Given the description of an element on the screen output the (x, y) to click on. 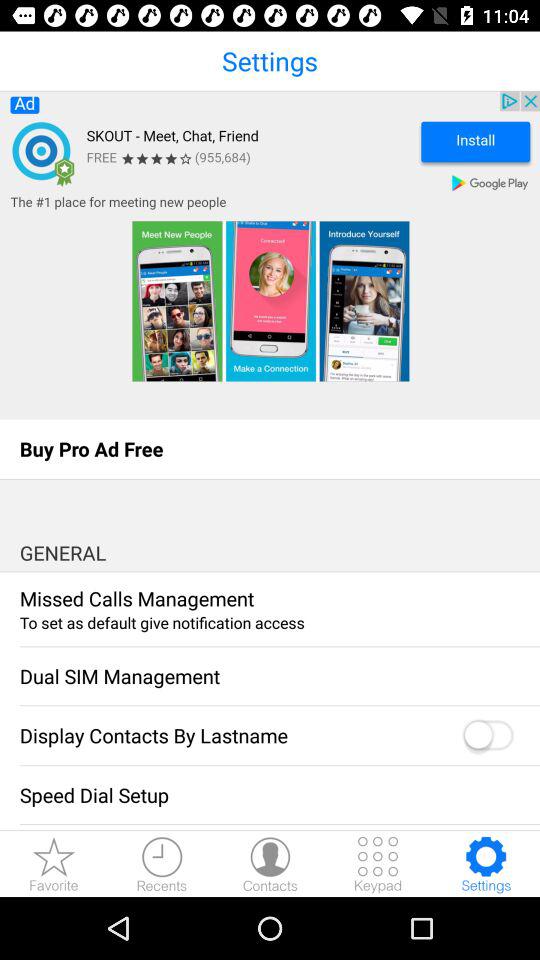
open settings (485, 864)
